Given the description of an element on the screen output the (x, y) to click on. 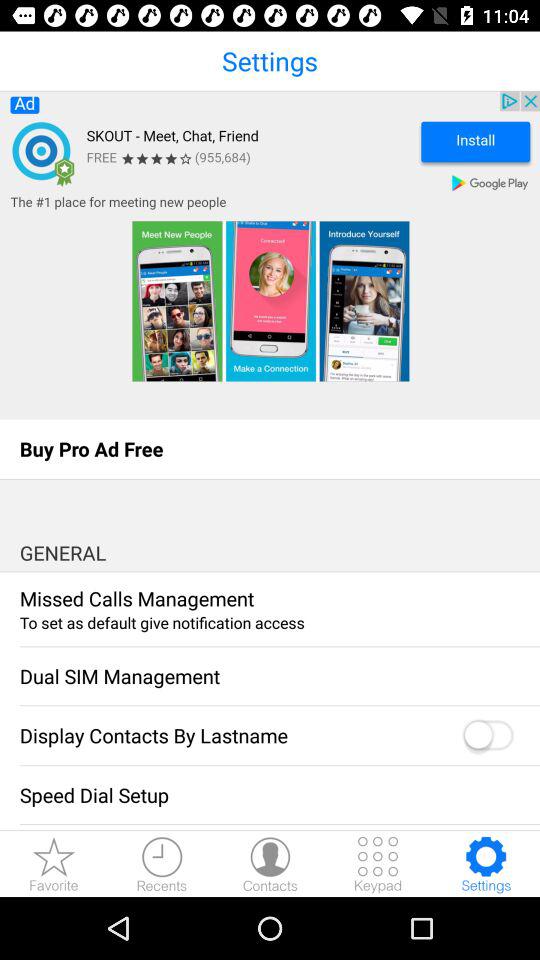
open settings (485, 864)
